Given the description of an element on the screen output the (x, y) to click on. 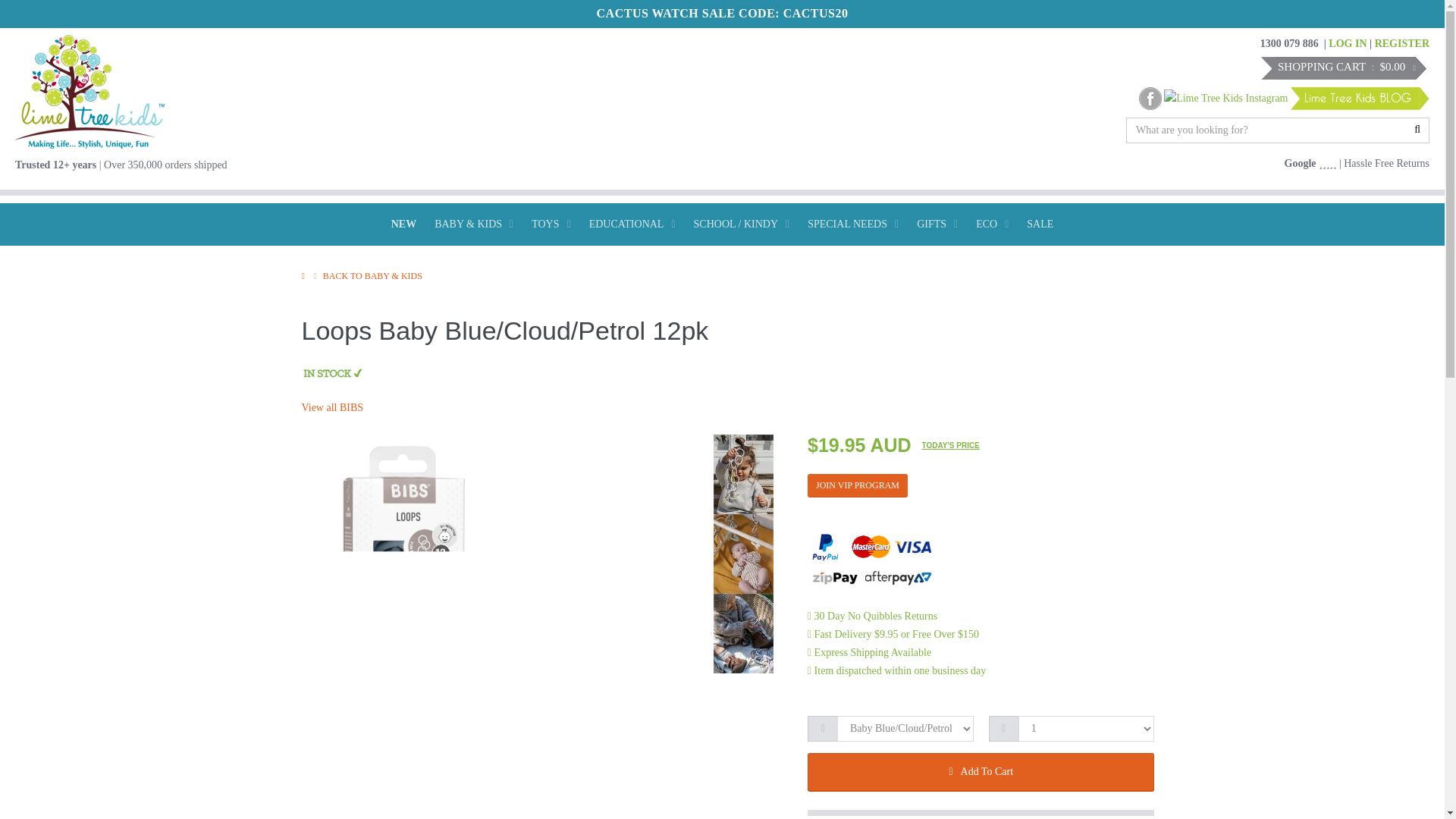
LOG IN (1347, 43)
Customer Log In (1347, 43)
NEW (403, 224)
REGISTER (1401, 43)
